Given the description of an element on the screen output the (x, y) to click on. 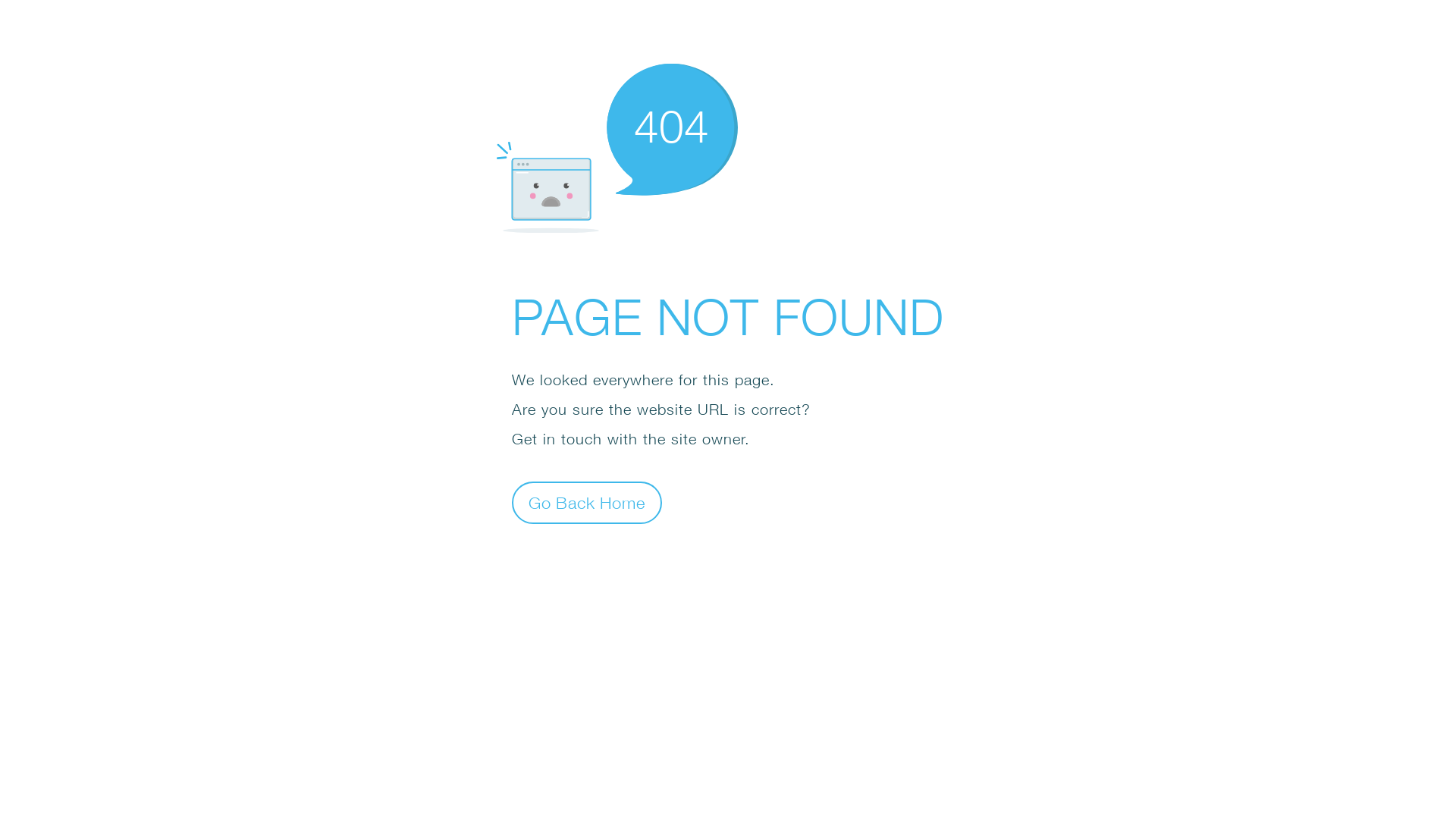
Go Back Home Element type: text (586, 502)
